Given the description of an element on the screen output the (x, y) to click on. 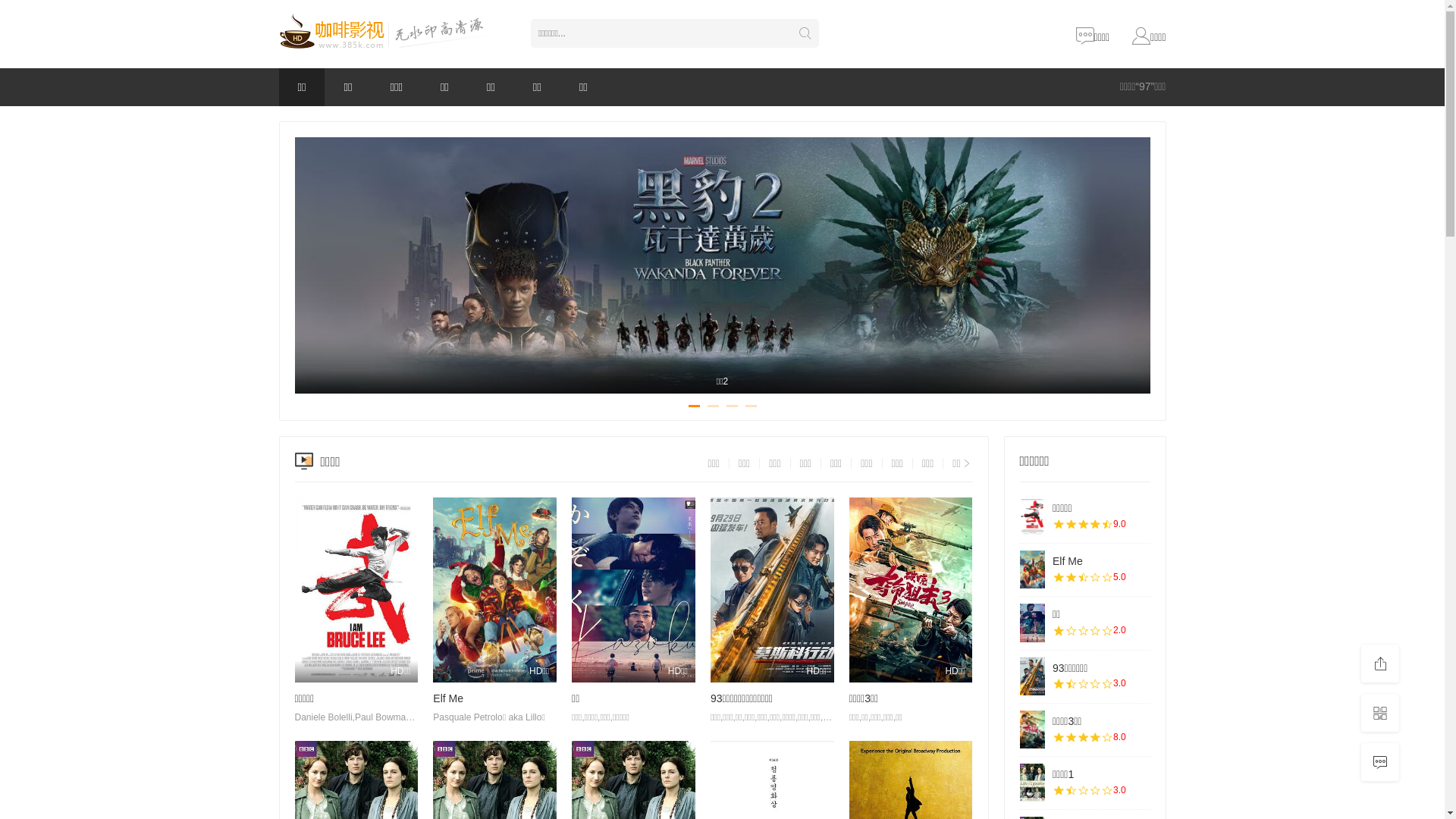
Elf Me Element type: hover (1031, 569)
Elf Me Element type: text (1067, 561)
Elf Me Element type: text (448, 698)
